Given the description of an element on the screen output the (x, y) to click on. 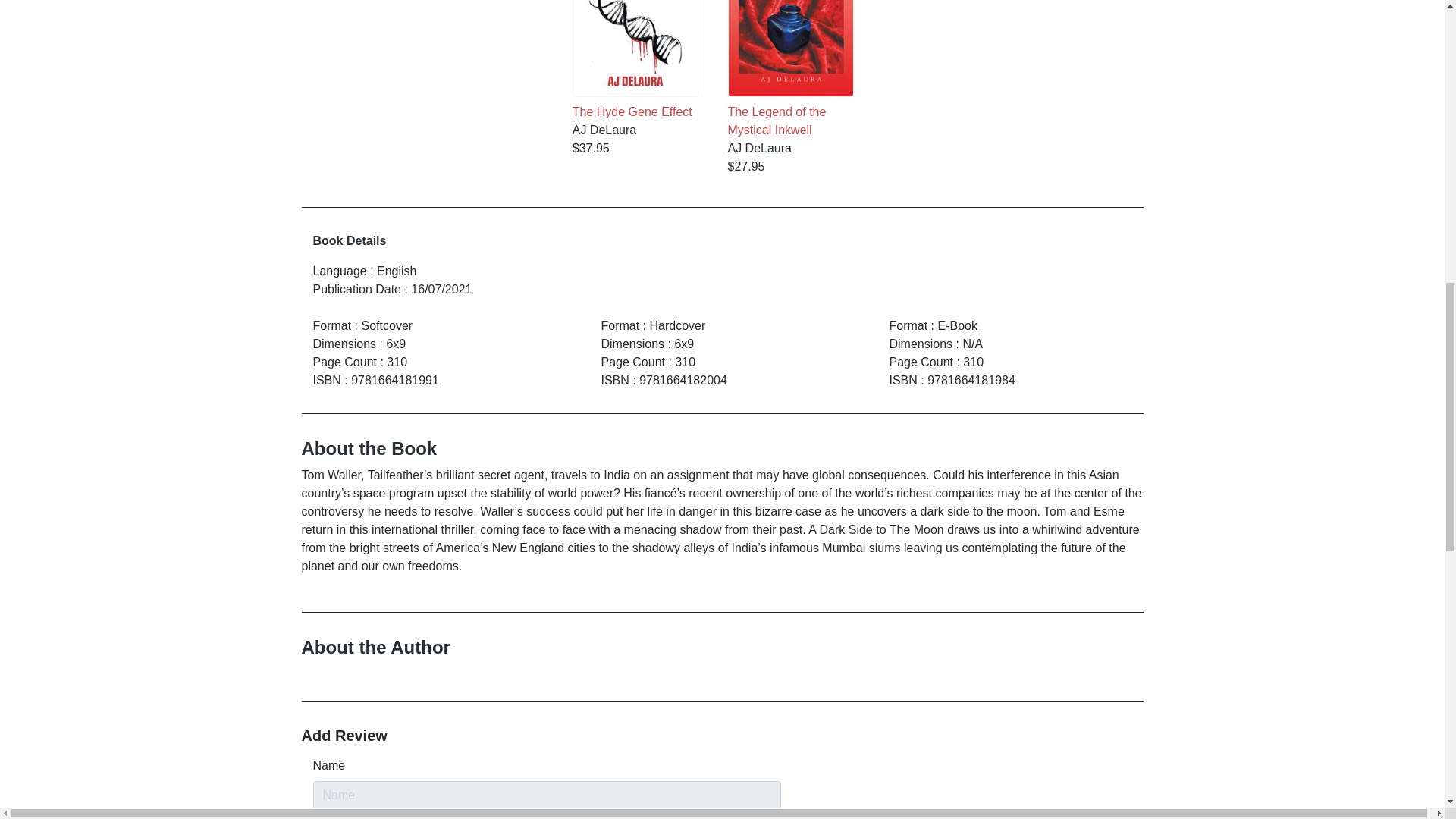
The Legend of the Mystical Inkwell (790, 69)
The Hyde Gene Effect (635, 60)
